Given the description of an element on the screen output the (x, y) to click on. 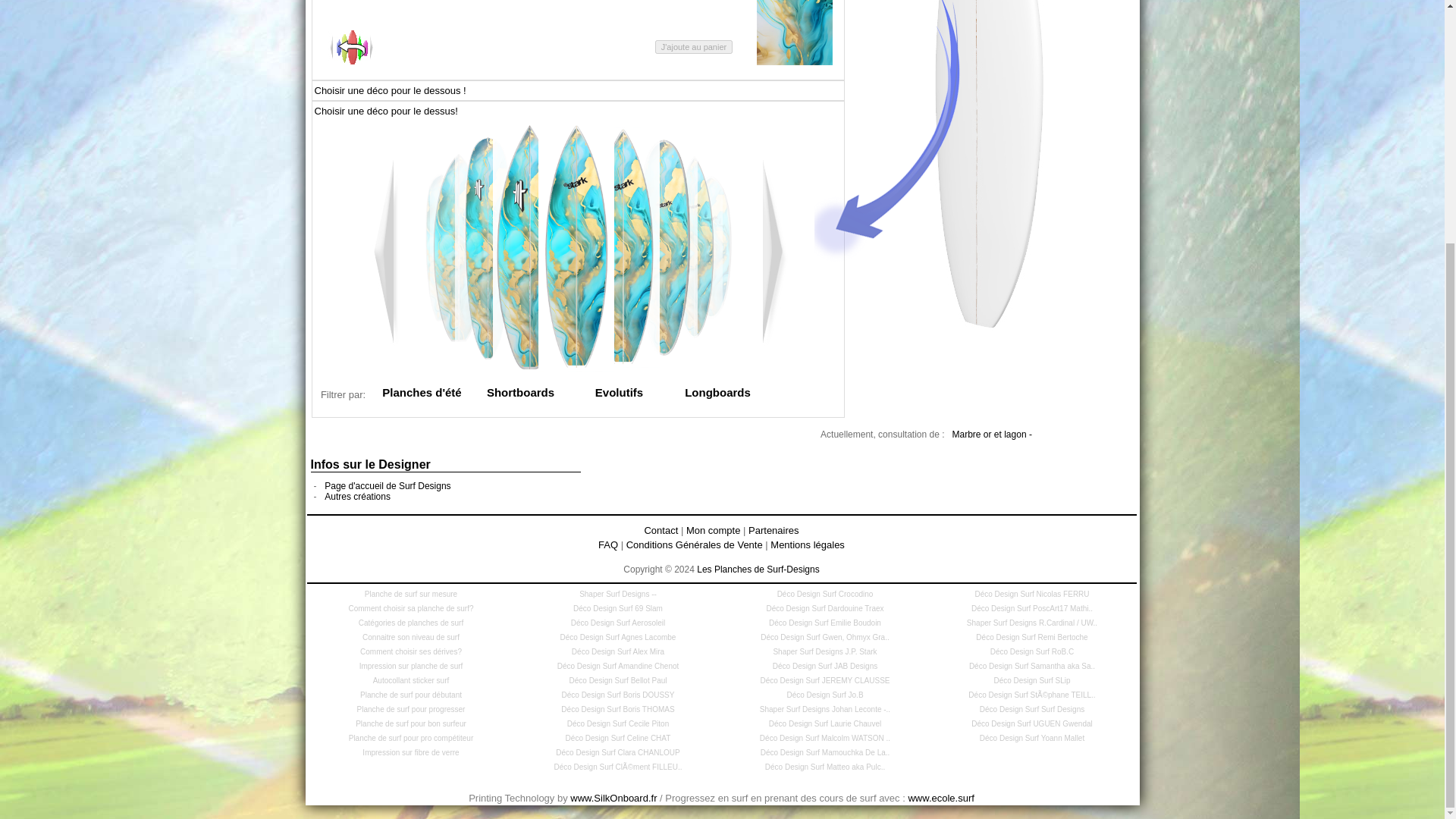
J'ajoute au panier (694, 47)
J'ajoute au panier (694, 47)
